Given the description of an element on the screen output the (x, y) to click on. 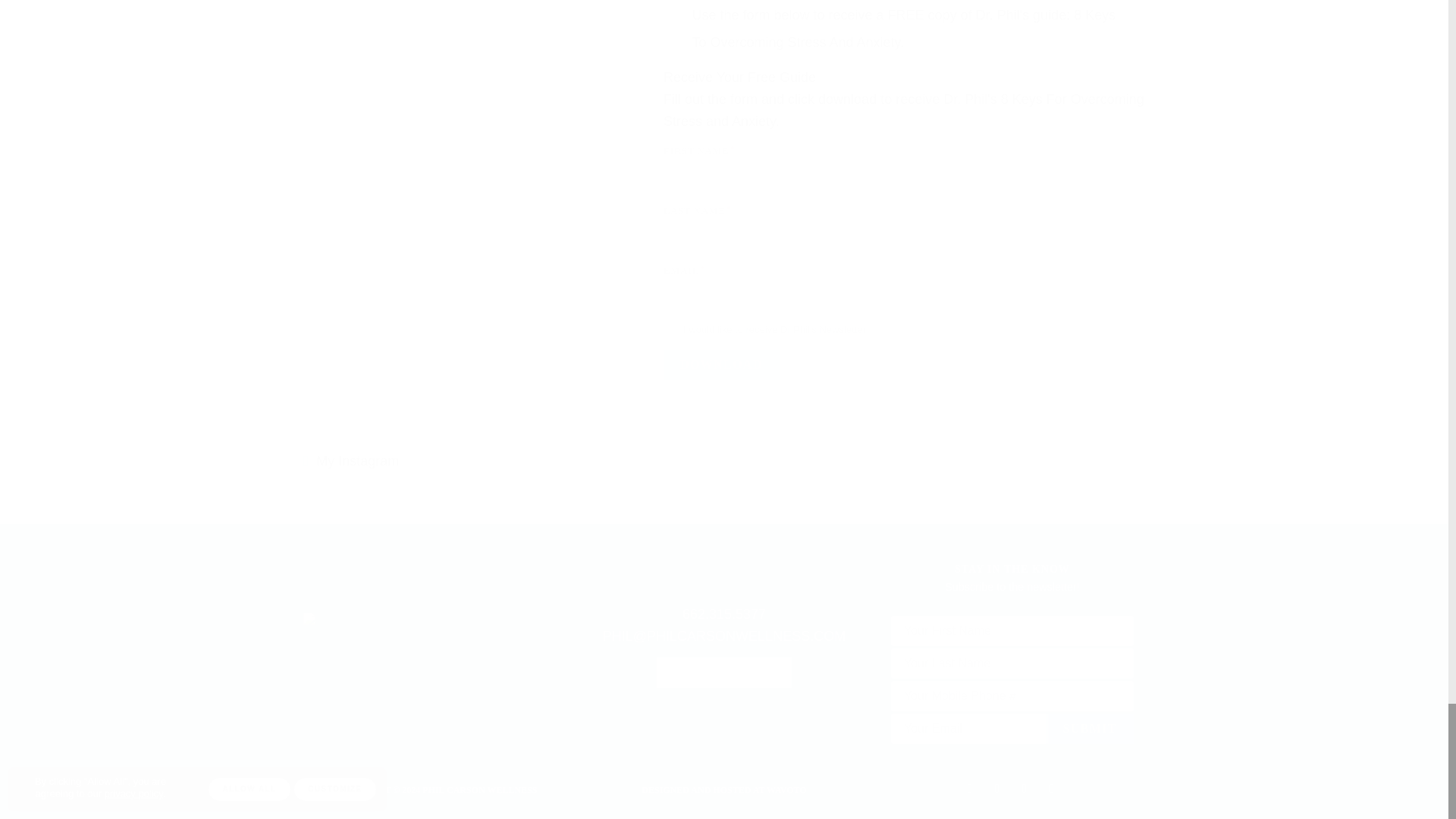
GET IN TOUCH (724, 672)
Submit (1089, 728)
WAVOTO (786, 789)
Submit (1089, 728)
DOWNLOAD (720, 364)
